Given the description of an element on the screen output the (x, y) to click on. 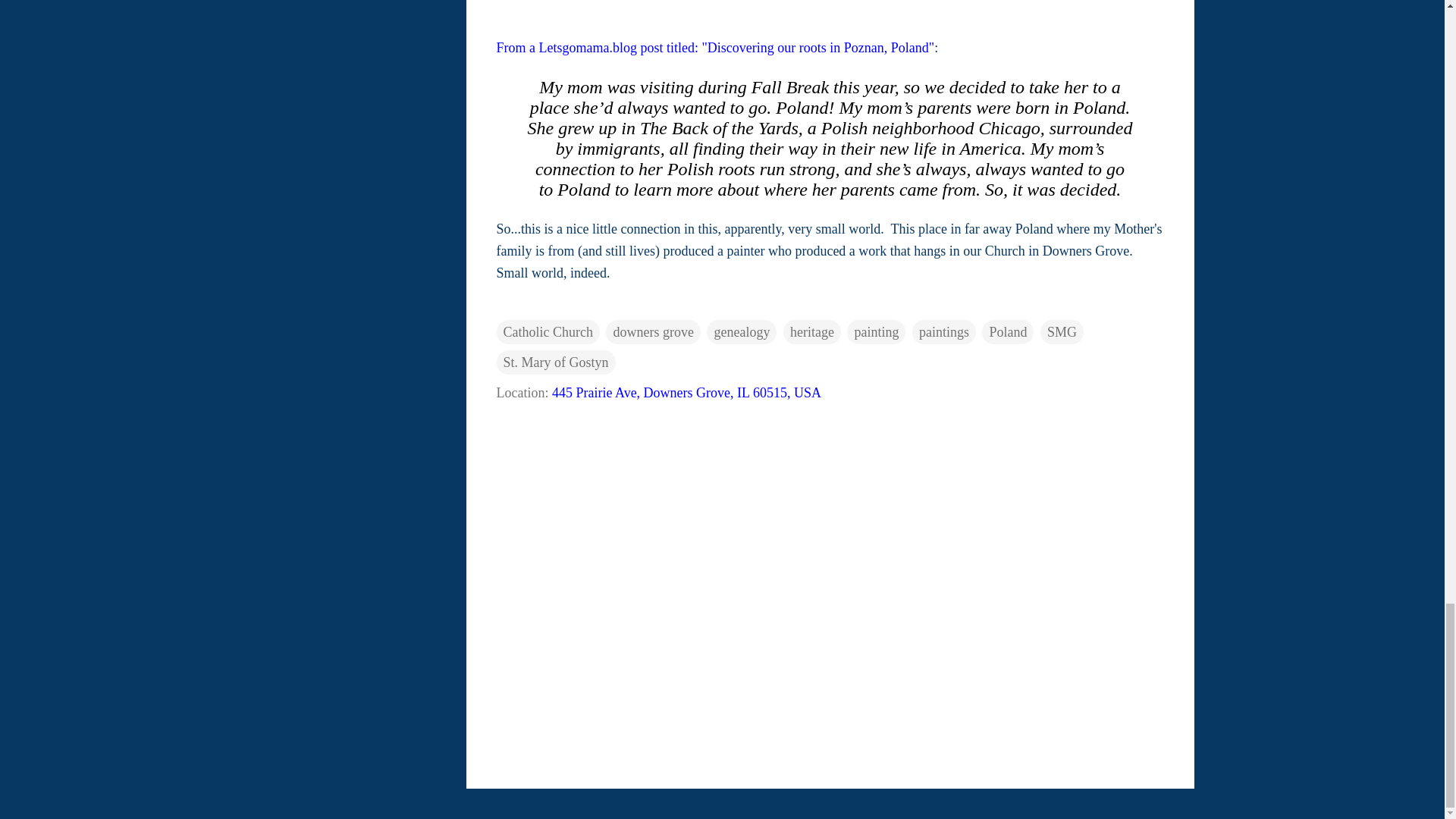
445 Prairie Ave, Downers Grove, IL 60515, USA (686, 392)
paintings (943, 331)
SMG (1062, 331)
painting (876, 331)
Catholic Church (547, 331)
heritage (812, 331)
Poland (1007, 331)
genealogy (741, 331)
downers grove (652, 331)
St. Mary of Gostyn (555, 362)
